Given the description of an element on the screen output the (x, y) to click on. 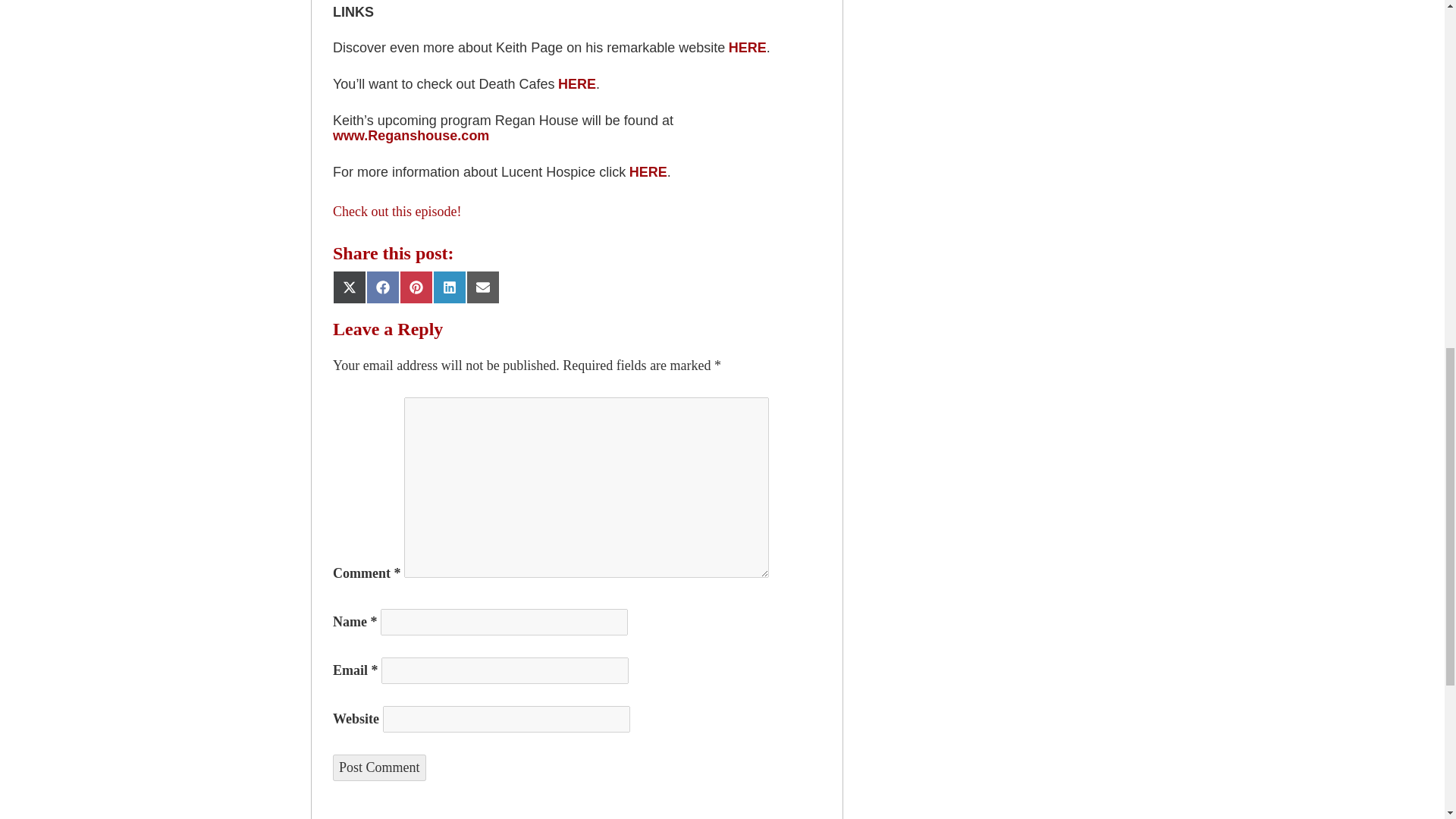
Share on LinkedIn (448, 287)
HERE (576, 83)
Check out this episode! (397, 211)
HERE (647, 171)
HERE (748, 47)
Share on Email (482, 287)
Post Comment (379, 767)
Post Comment (379, 767)
Share on Facebook (382, 287)
Share on Pinterest (415, 287)
